Given the description of an element on the screen output the (x, y) to click on. 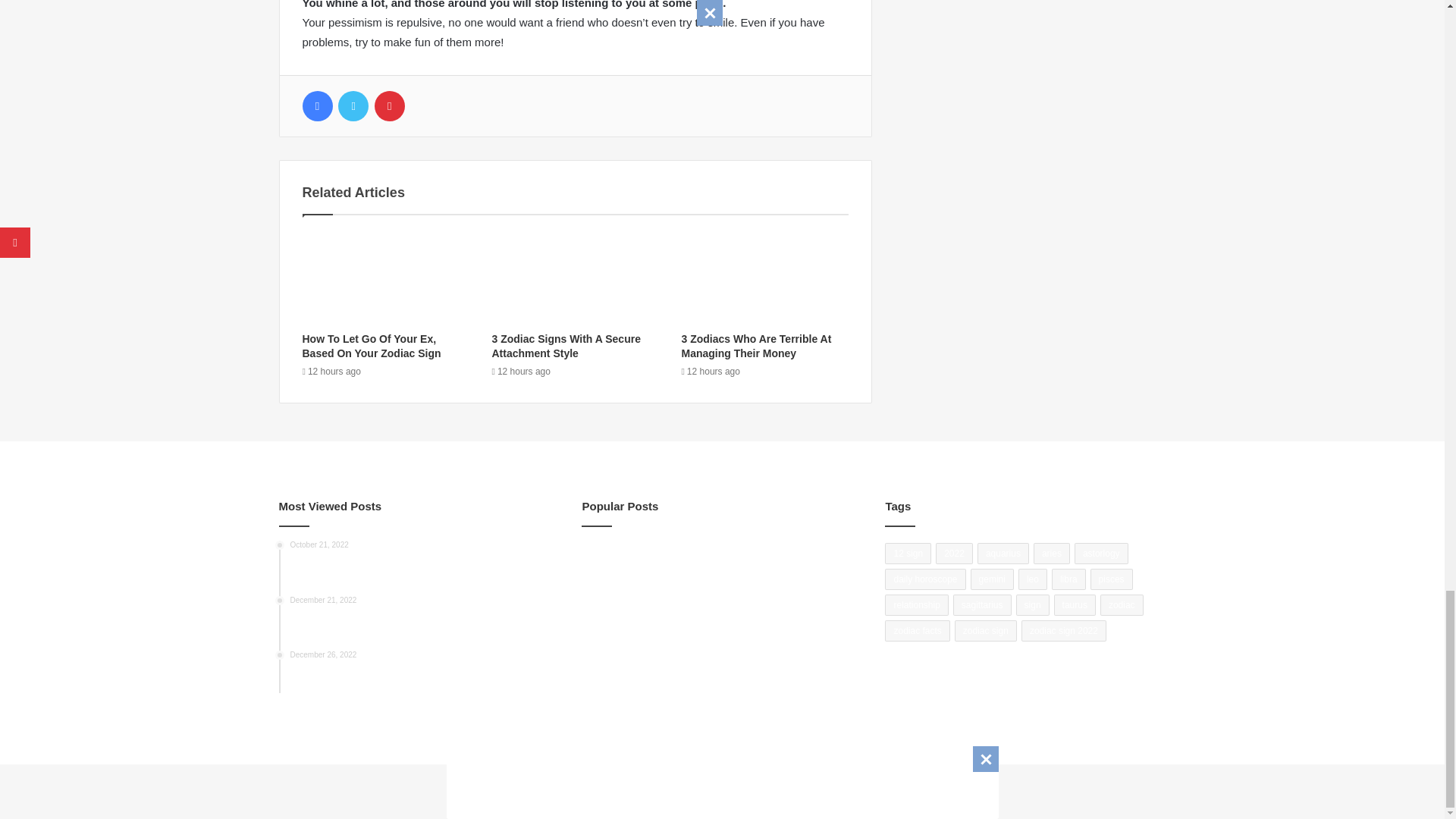
3 Zodiacs Who Are Terrible At Managing Their Money (756, 345)
Facebook (316, 105)
Twitter (352, 105)
3 Zodiac Signs With A Secure Attachment Style (566, 345)
How To Let Go Of Your Ex, Based On Your Zodiac Sign (371, 345)
Pinterest (389, 105)
